Given the description of an element on the screen output the (x, y) to click on. 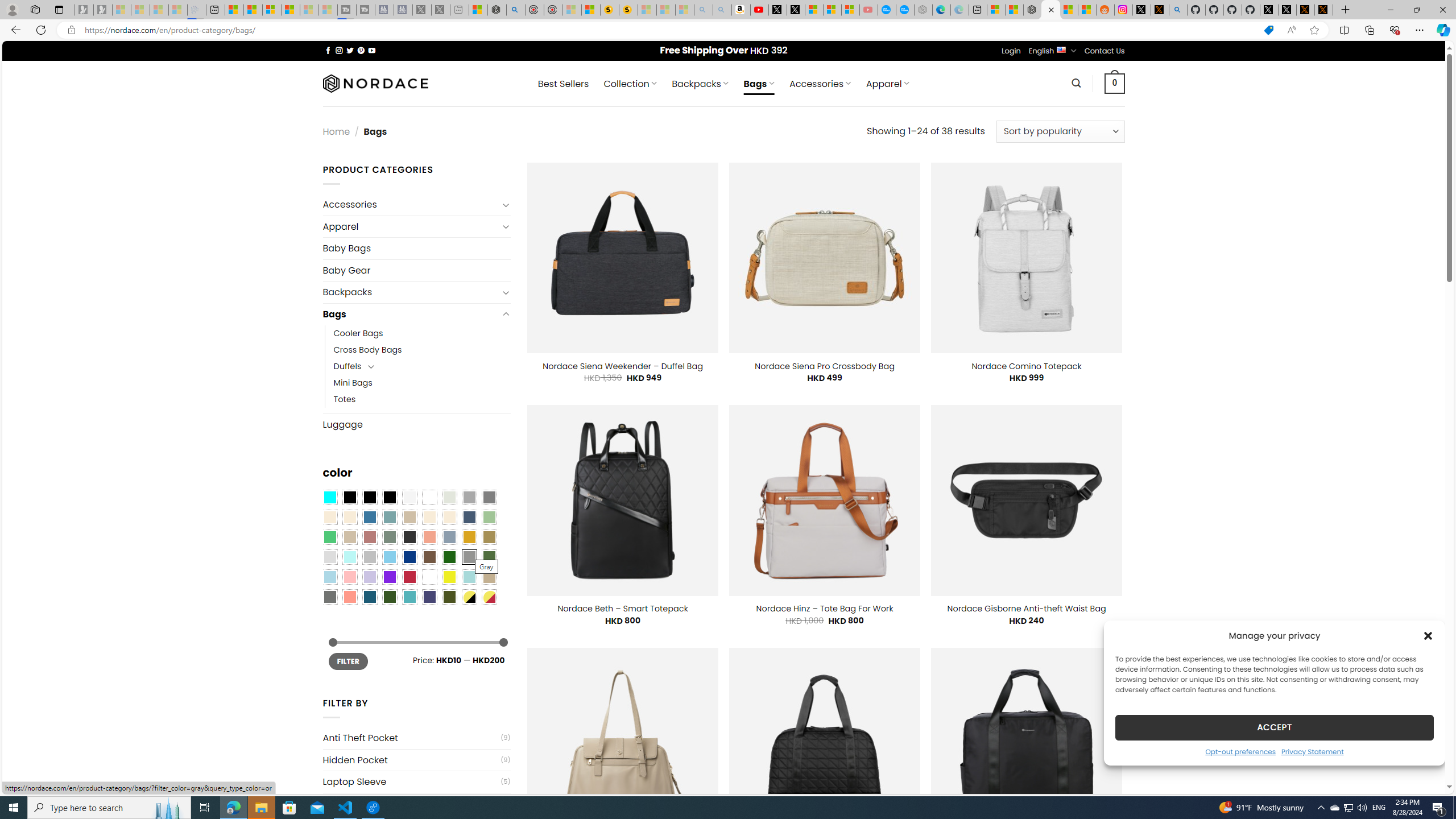
The most popular Google 'how to' searches (904, 9)
Red (408, 577)
This site has coupons! Shopping in Microsoft Edge (1268, 29)
